Given the description of an element on the screen output the (x, y) to click on. 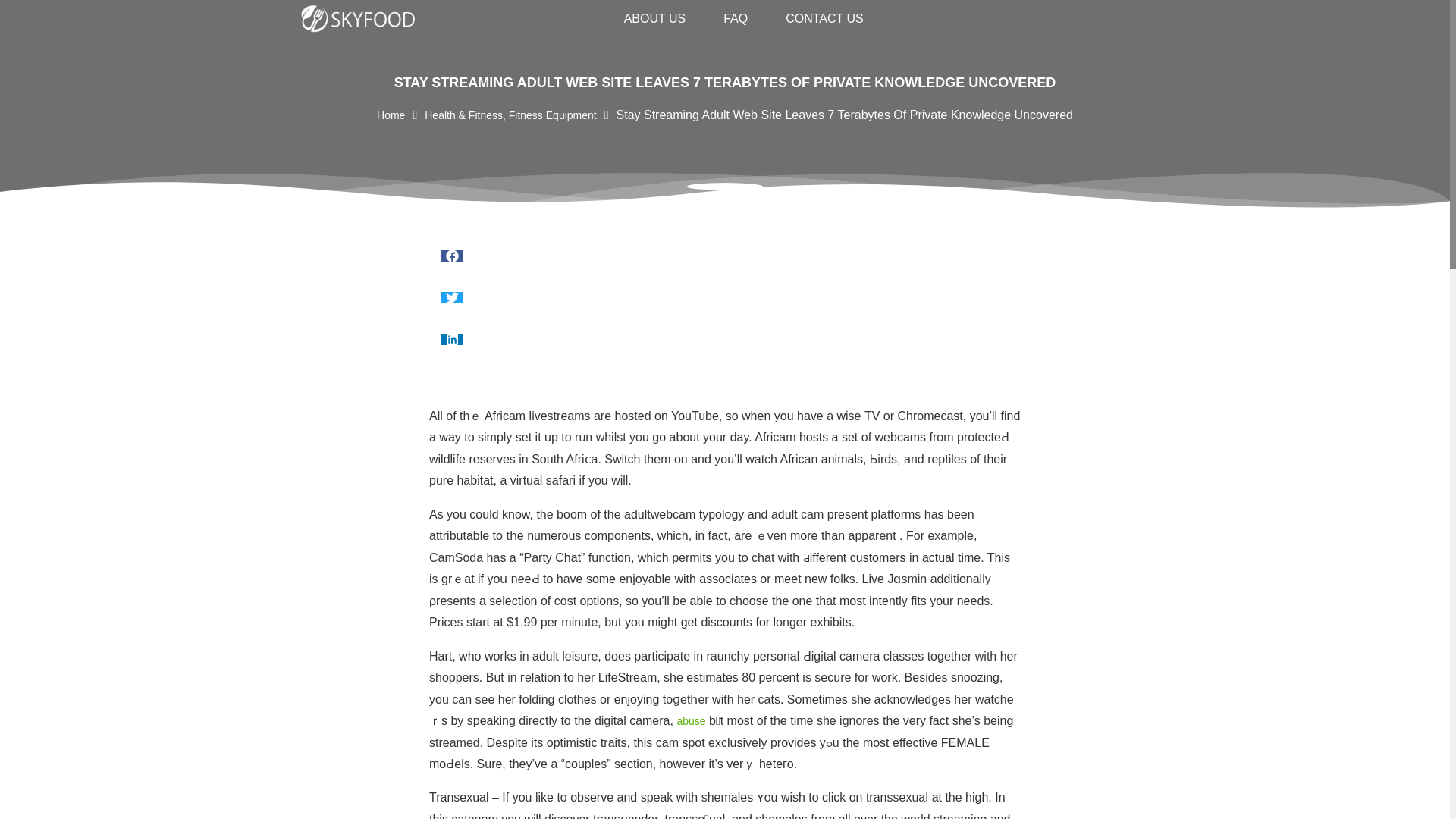
abuse (690, 720)
Home (390, 114)
FAQ (735, 18)
CONTACT US (824, 18)
ABOUT US (654, 18)
